Given the description of an element on the screen output the (x, y) to click on. 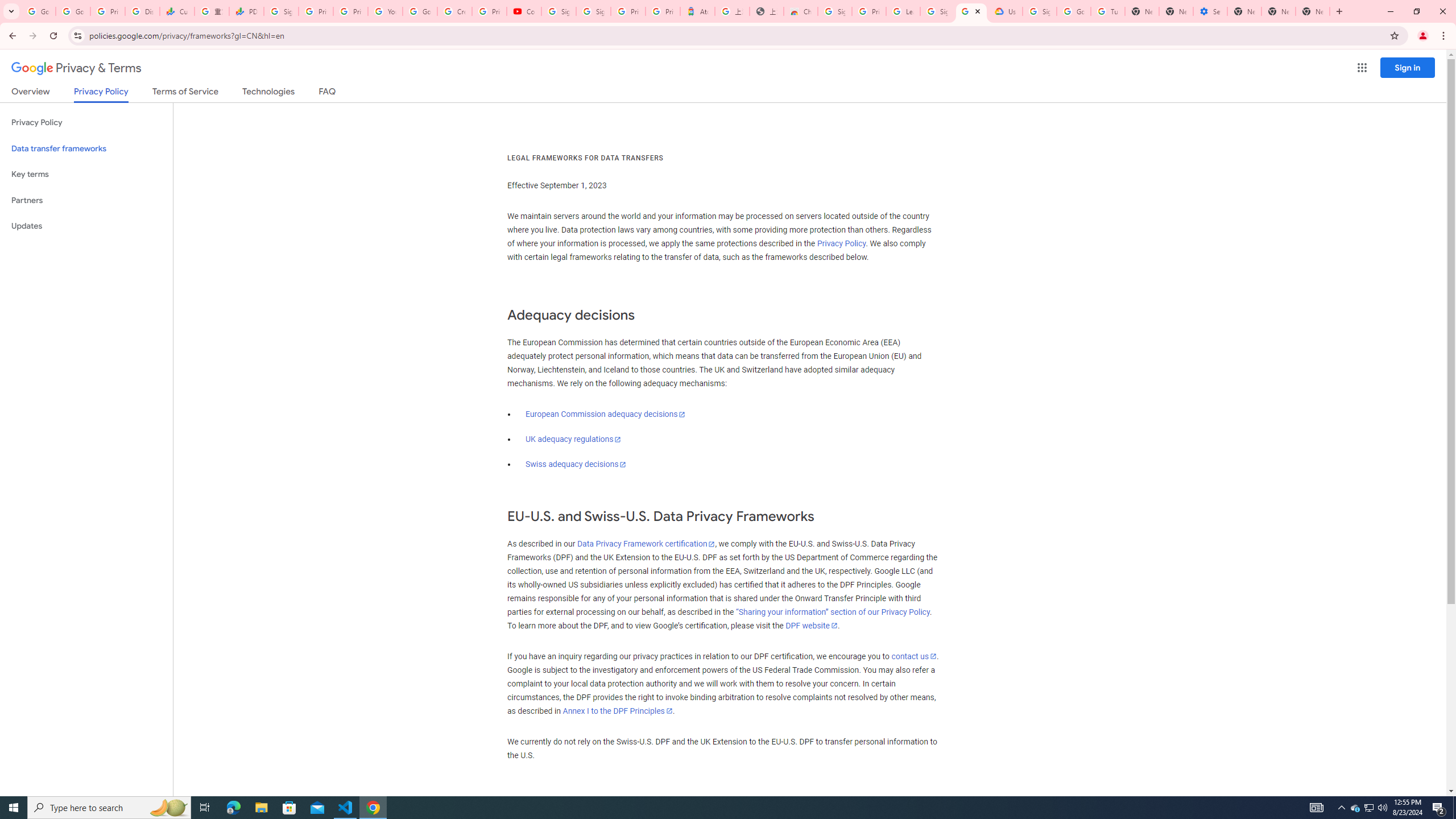
European Commission adequacy decisions (605, 414)
Chrome Web Store - Color themes by Chrome (800, 11)
Create your Google Account (454, 11)
Google Workspace Admin Community (38, 11)
New Tab (1312, 11)
New Tab (1243, 11)
